Given the description of an element on the screen output the (x, y) to click on. 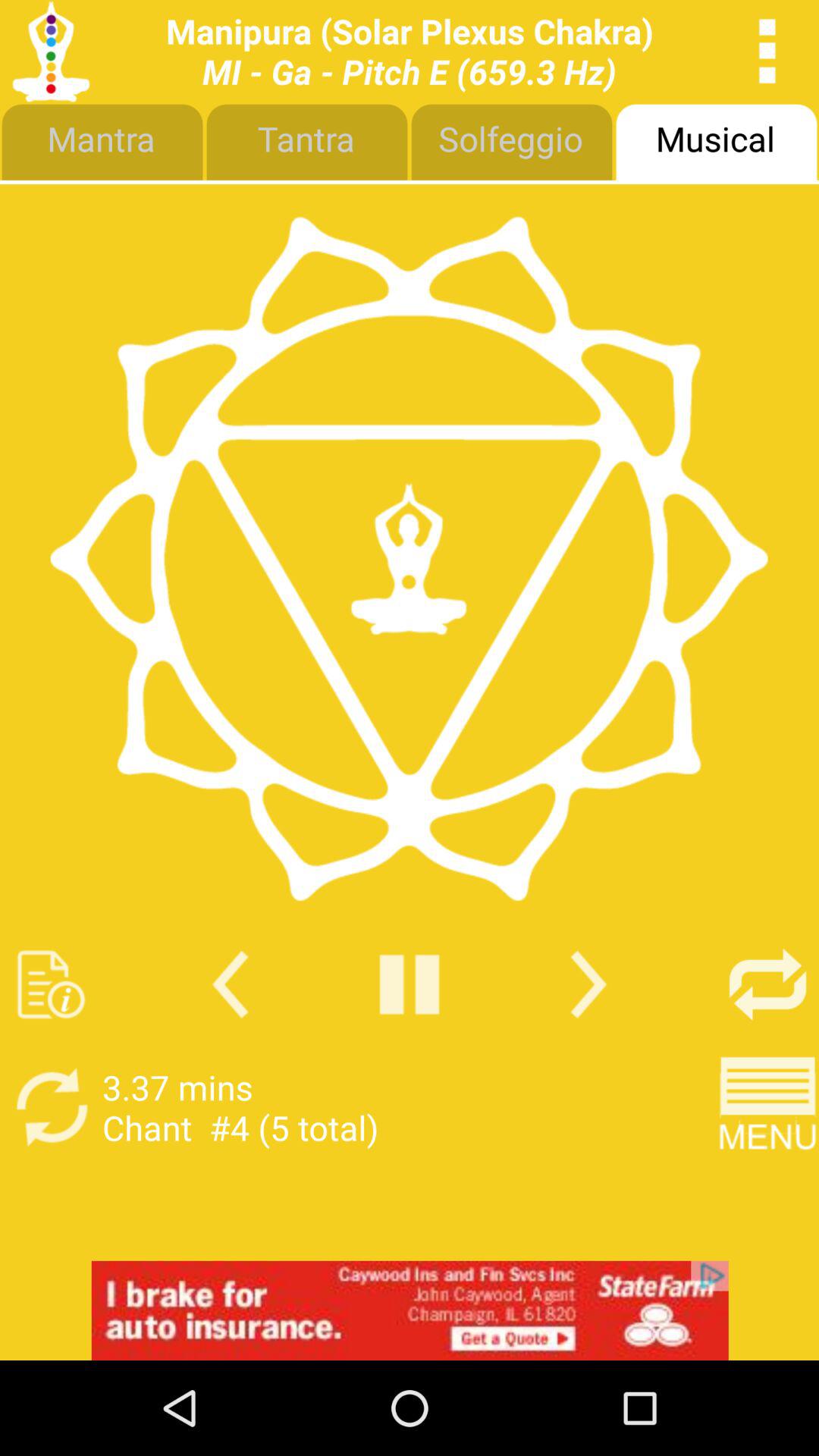
go to advertisement (409, 1310)
